Given the description of an element on the screen output the (x, y) to click on. 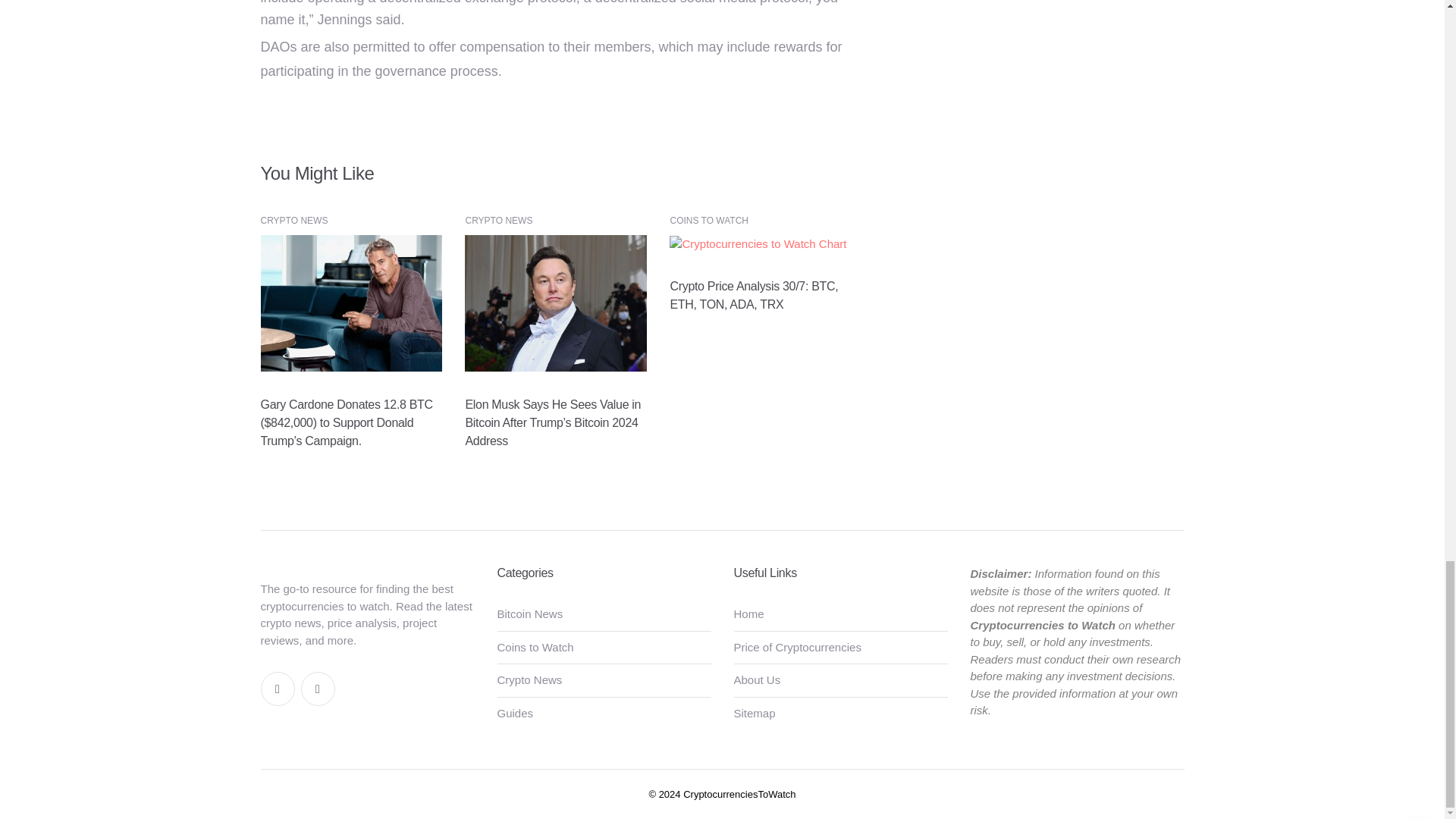
Twitter (316, 688)
Facebook (277, 688)
